Given the description of an element on the screen output the (x, y) to click on. 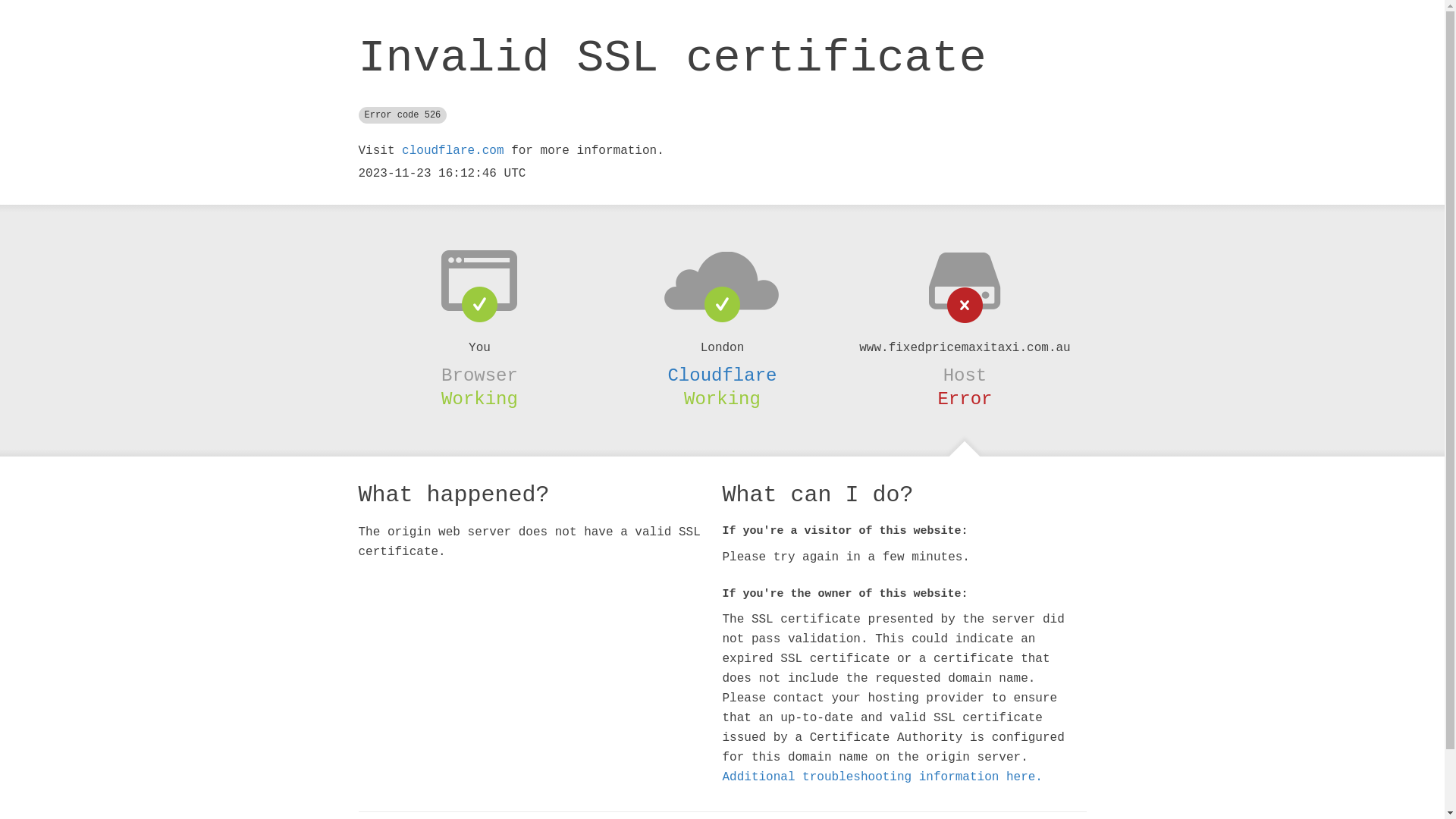
cloudflare.com Element type: text (452, 150)
Cloudflare Element type: text (721, 375)
Additional troubleshooting information here. Element type: text (881, 777)
